Given the description of an element on the screen output the (x, y) to click on. 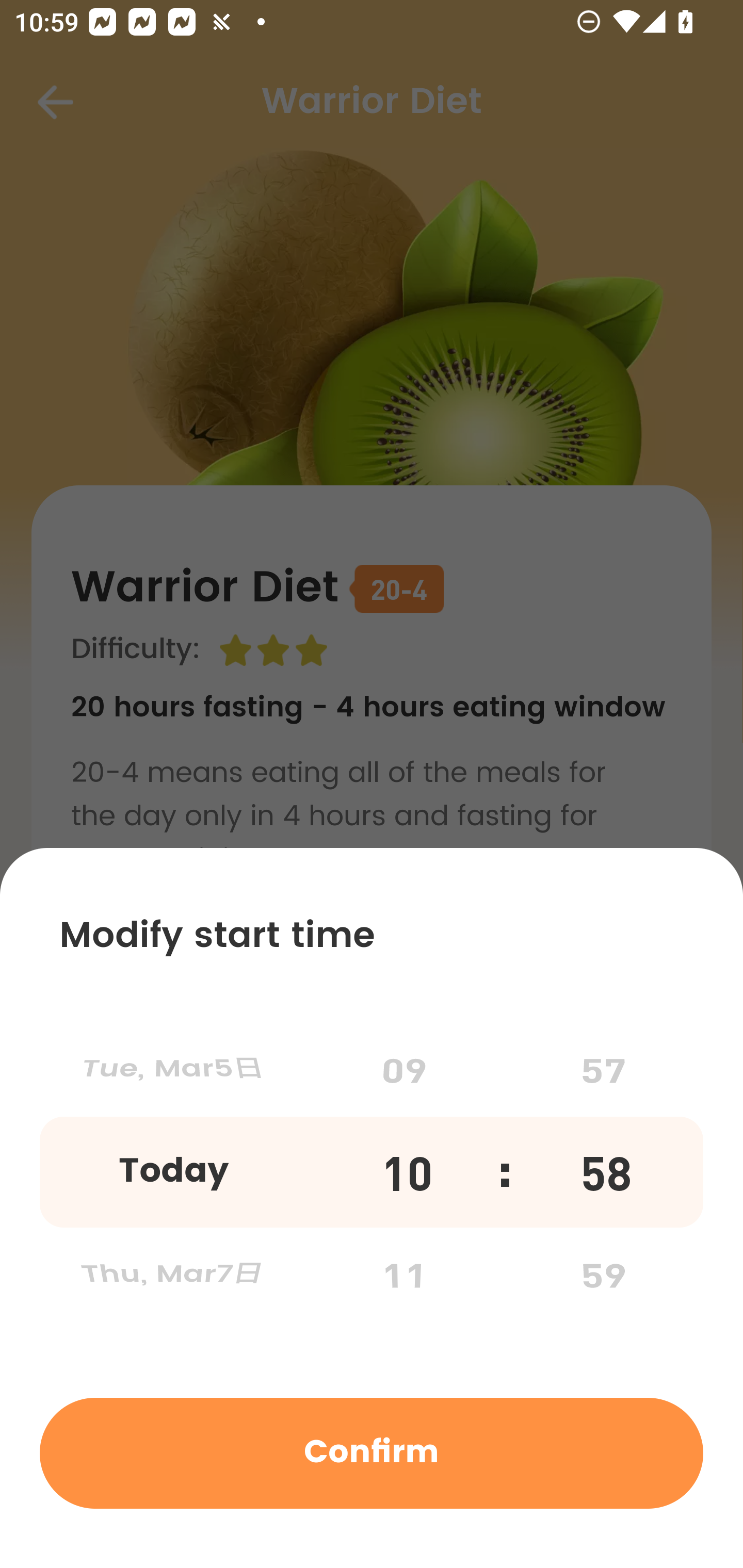
Confirm (371, 1452)
